Given the description of an element on the screen output the (x, y) to click on. 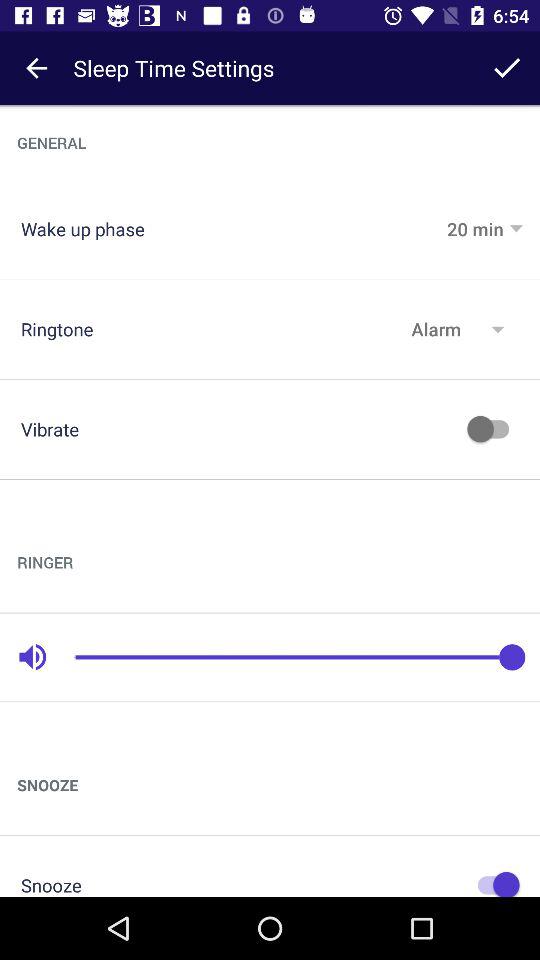
go back (36, 68)
